Given the description of an element on the screen output the (x, y) to click on. 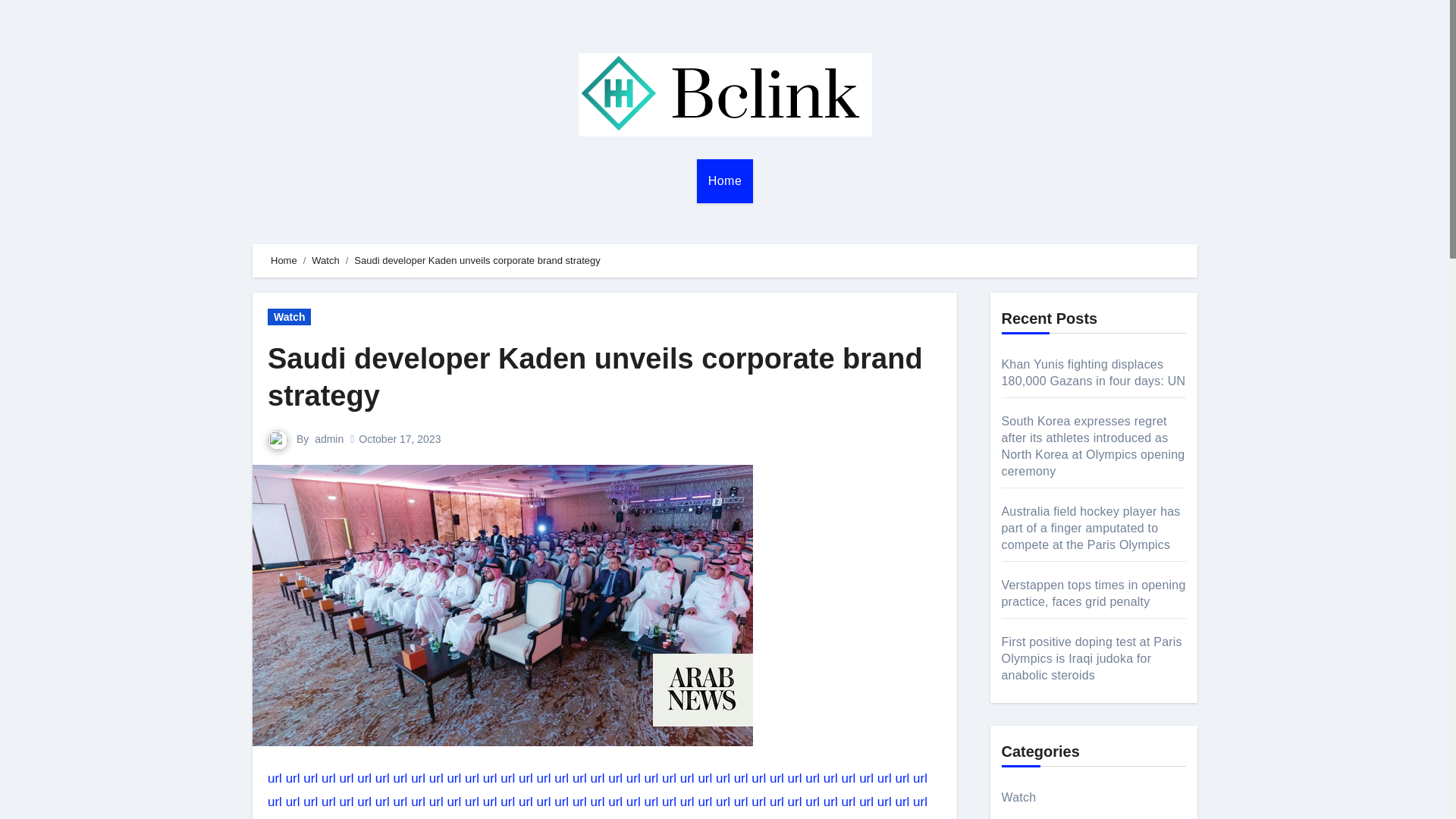
Saudi developer Kaden unveils corporate brand strategy (595, 377)
url (650, 778)
url (633, 778)
url (417, 778)
url (704, 778)
url (400, 778)
url (669, 778)
url (490, 778)
October 17, 2023 (399, 439)
url (579, 778)
url (686, 778)
url (723, 778)
url (436, 778)
Home (725, 180)
url (292, 778)
